Given the description of an element on the screen output the (x, y) to click on. 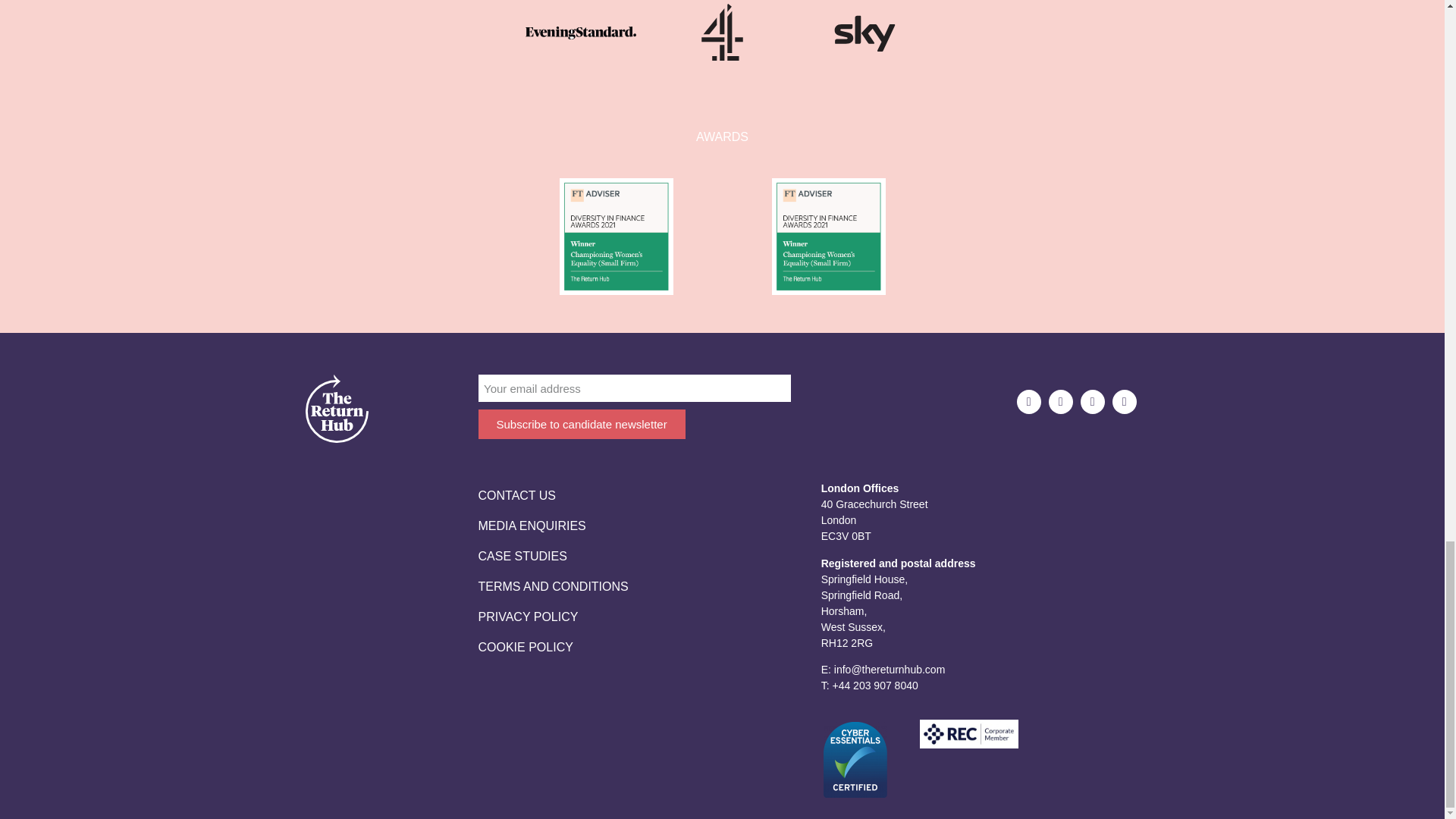
COOKIE POLICY (552, 647)
CONTACT US (552, 495)
Subscribe to candidate newsletter (580, 423)
CASE STUDIES (552, 556)
TERMS AND CONDITIONS (552, 586)
PRIVACY POLICY (552, 616)
MEDIA ENQUIRIES (552, 526)
trh-logo-white (336, 408)
